Given the description of an element on the screen output the (x, y) to click on. 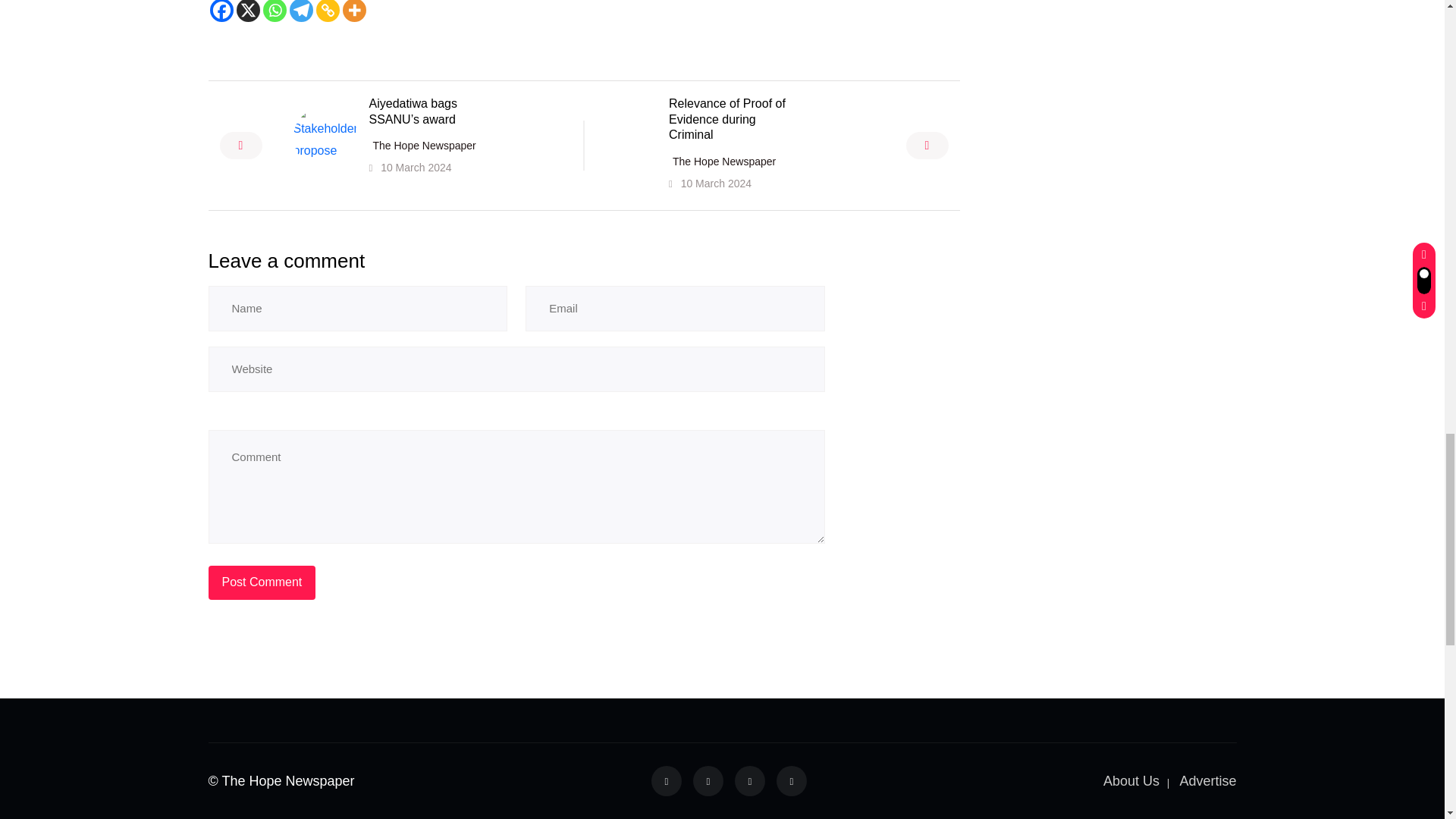
More (354, 11)
X (247, 11)
Telegram (301, 11)
Whatsapp (273, 11)
Post Comment (261, 582)
Copy Link (327, 11)
Facebook (220, 11)
